Given the description of an element on the screen output the (x, y) to click on. 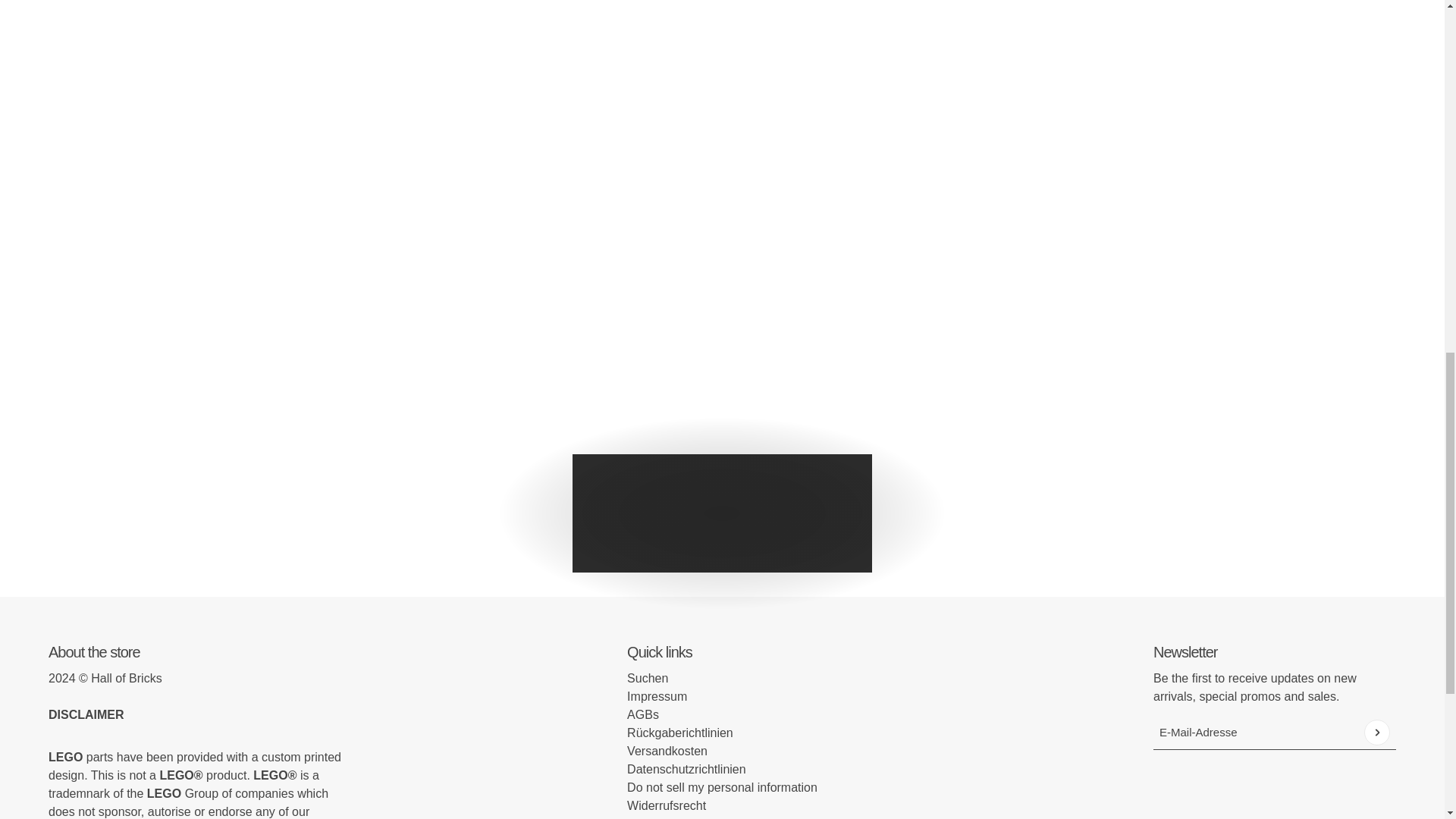
AGBs (643, 714)
Widerrufsrecht (666, 805)
Do not sell my personal information (721, 787)
Datenschutzrichtlinien (686, 768)
Impressum (657, 696)
Versandkosten (667, 750)
